Given the description of an element on the screen output the (x, y) to click on. 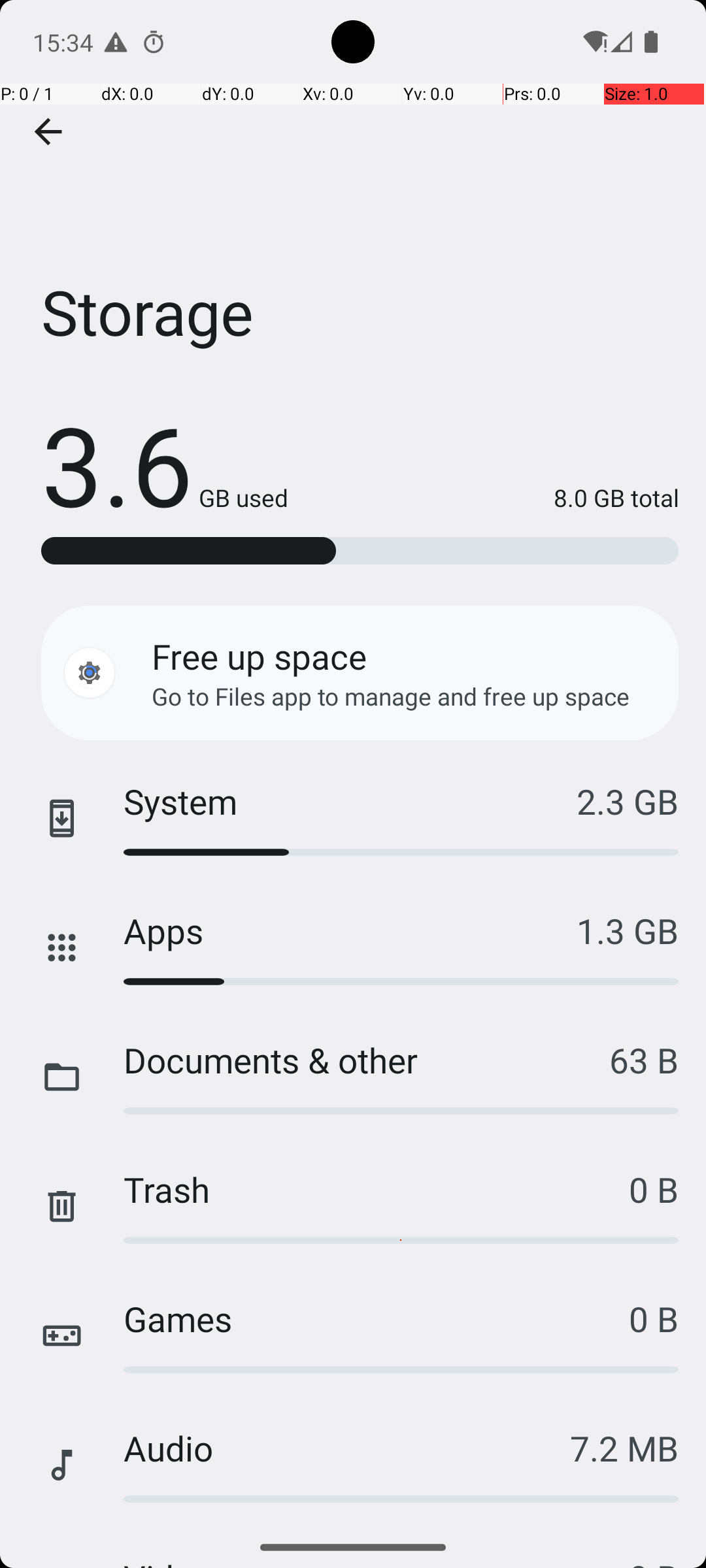
3.6 GB used Element type: android.widget.TextView (164, 463)
8.0 GB total Element type: android.widget.TextView (483, 497)
Free up space Element type: android.widget.TextView (258, 656)
Go to Files app to manage and free up space Element type: android.widget.TextView (390, 695)
2.3 GB Element type: android.widget.TextView (627, 801)
1.3 GB Element type: android.widget.TextView (627, 930)
Documents & other Element type: android.widget.TextView (366, 1059)
63 B Element type: android.widget.TextView (643, 1059)
Trash Element type: android.widget.TextView (375, 1189)
0 B Element type: android.widget.TextView (653, 1189)
Games Element type: android.widget.TextView (375, 1318)
7.2 MB Element type: android.widget.TextView (624, 1447)
Android System notification:  Element type: android.widget.ImageView (115, 41)
